Given the description of an element on the screen output the (x, y) to click on. 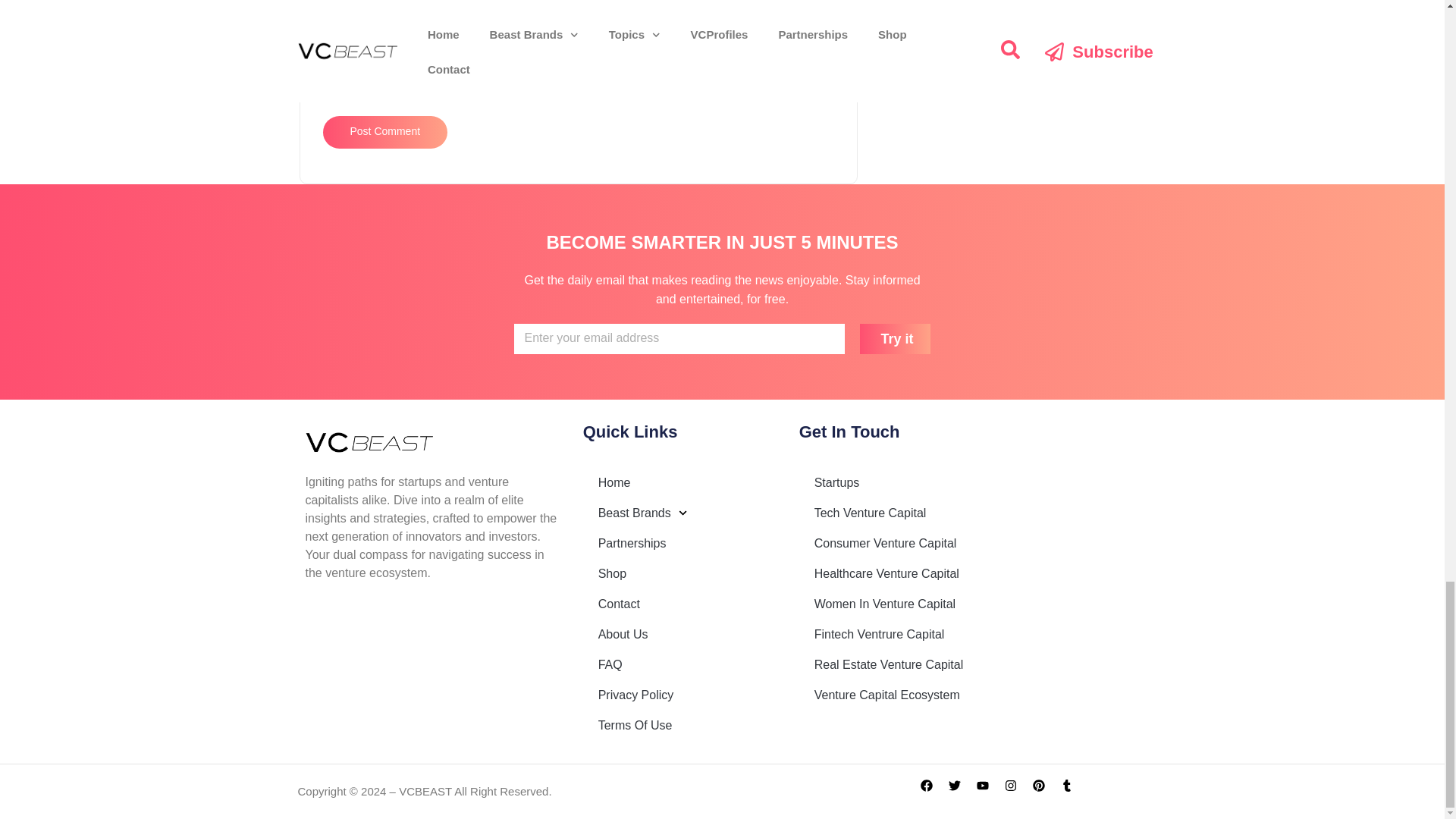
Post Comment (385, 132)
yes (328, 92)
